Given the description of an element on the screen output the (x, y) to click on. 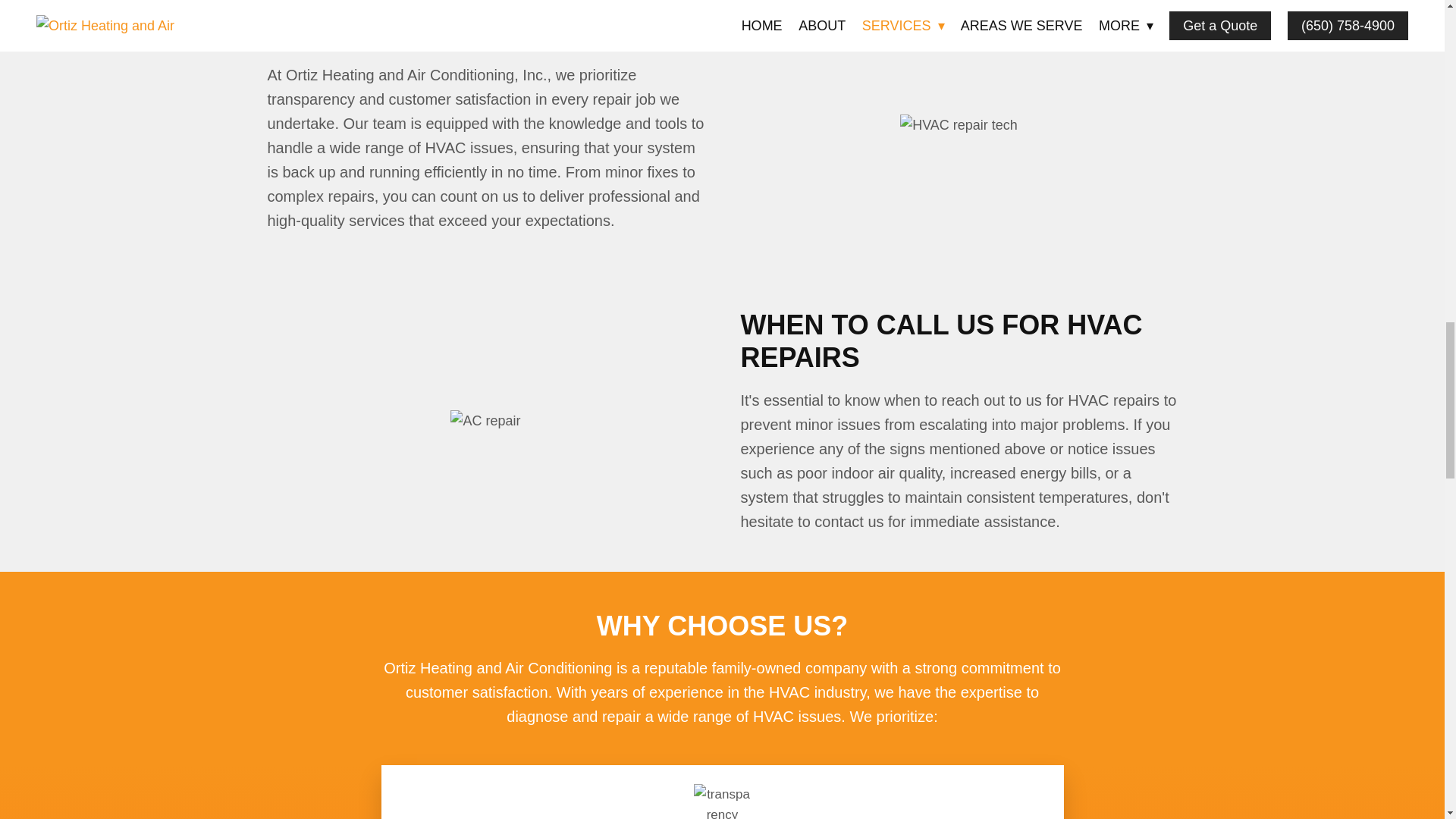
transparency icon (722, 801)
HVAC repair tech (958, 125)
AC repair (484, 421)
